Given the description of an element on the screen output the (x, y) to click on. 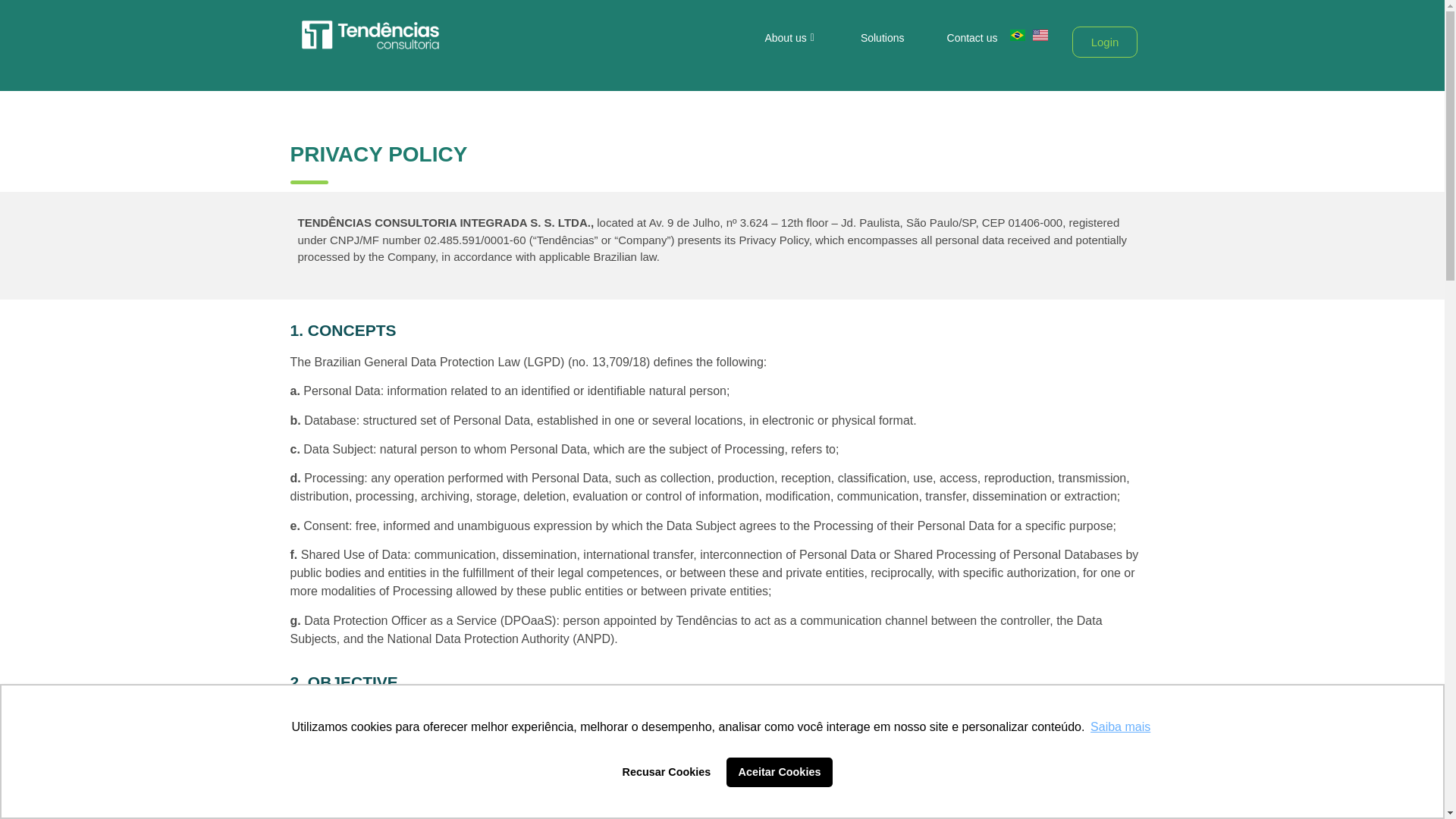
Saiba mais (1120, 726)
Aceitar Cookies (779, 771)
Recusar Cookies (665, 771)
About us (791, 37)
Contact us (972, 37)
Solutions (882, 37)
